Given the description of an element on the screen output the (x, y) to click on. 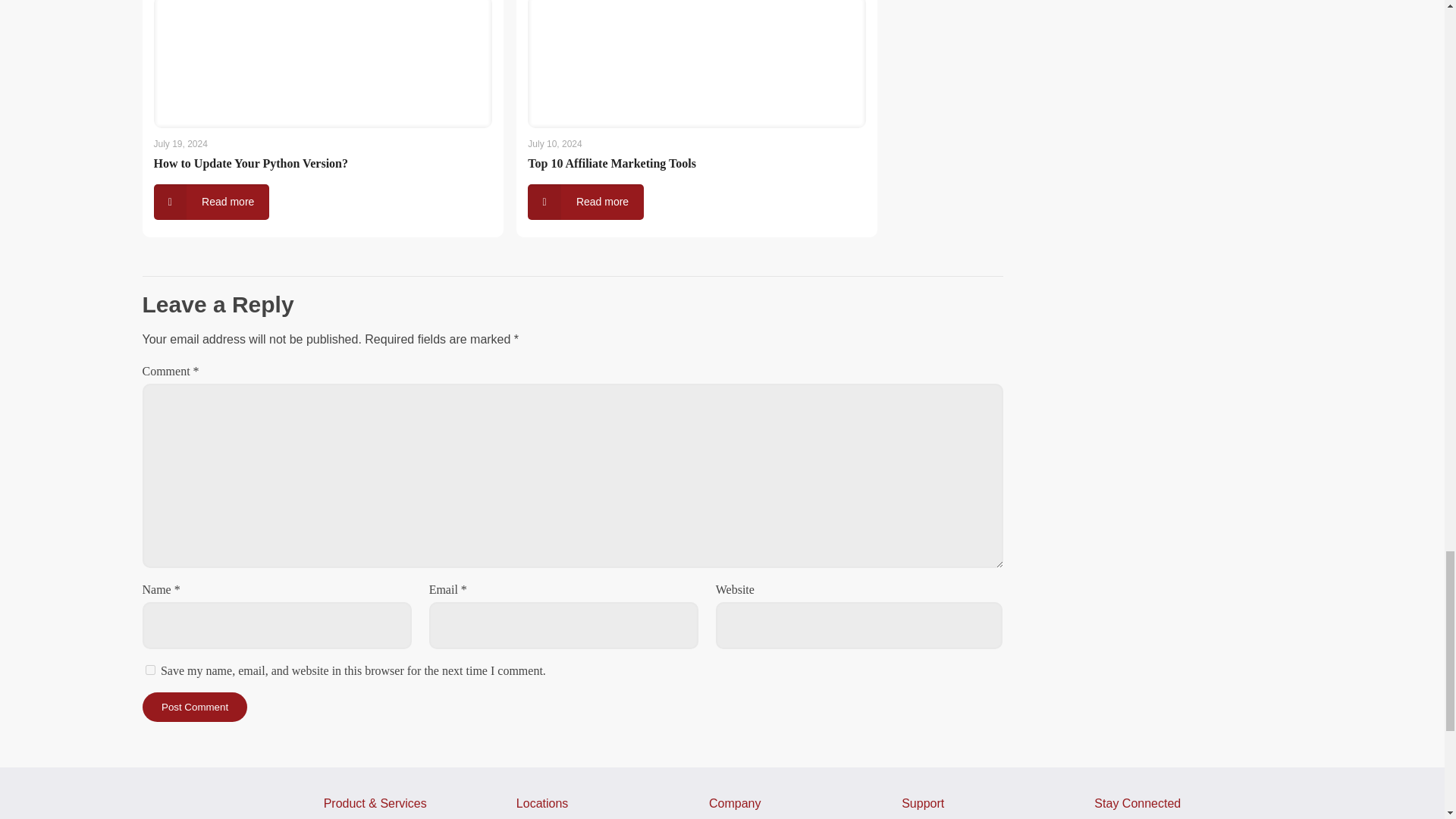
How to Update Your Python Version? 6 (322, 69)
Top 10 Affiliate Marketing Tools 8 (696, 69)
Post Comment (194, 706)
yes (150, 669)
